Given the description of an element on the screen output the (x, y) to click on. 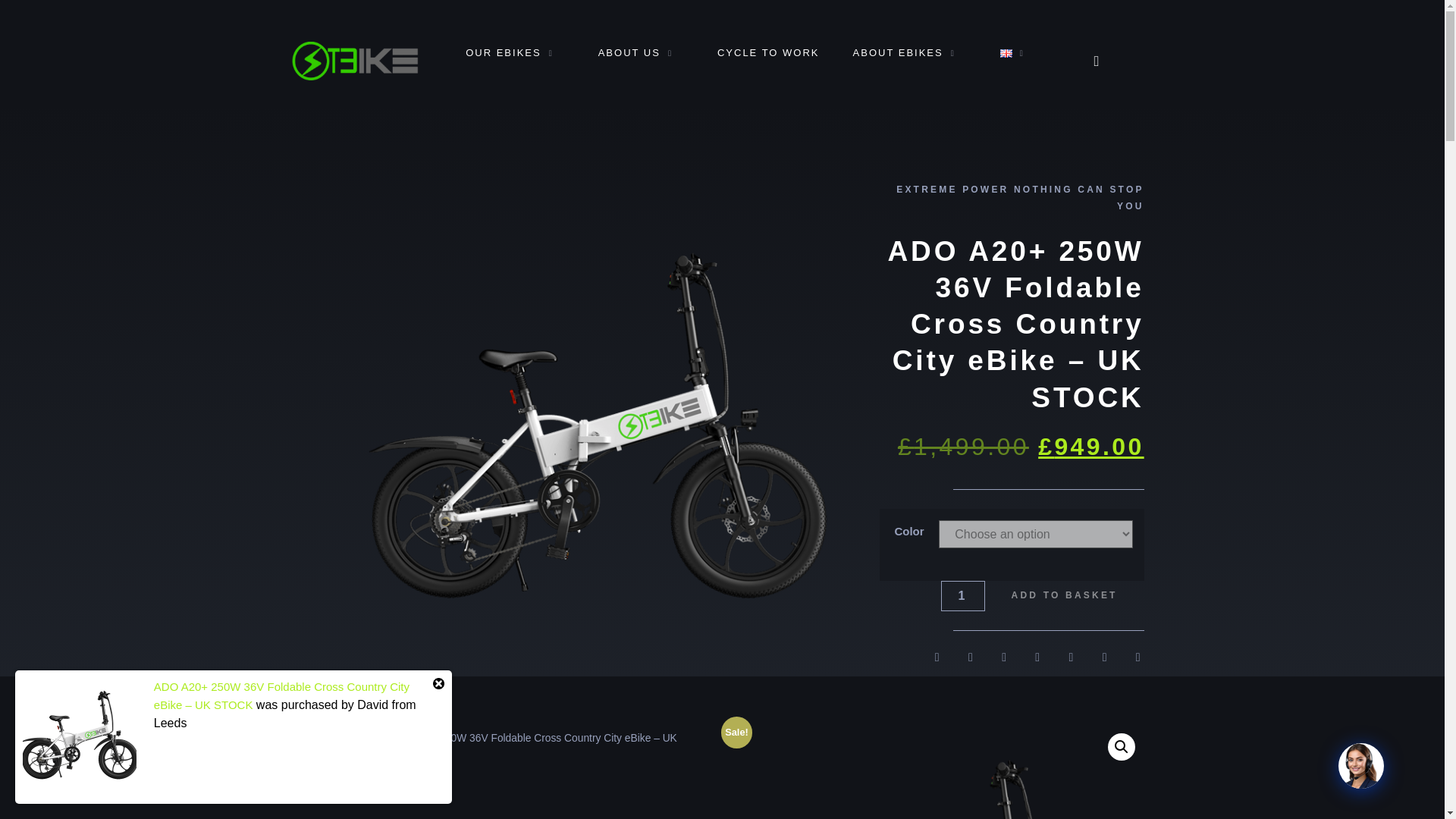
1 (962, 595)
ABOUT US (640, 52)
a20-white1-min (936, 770)
logo (354, 60)
OUR EBIKES (514, 52)
